Given the description of an element on the screen output the (x, y) to click on. 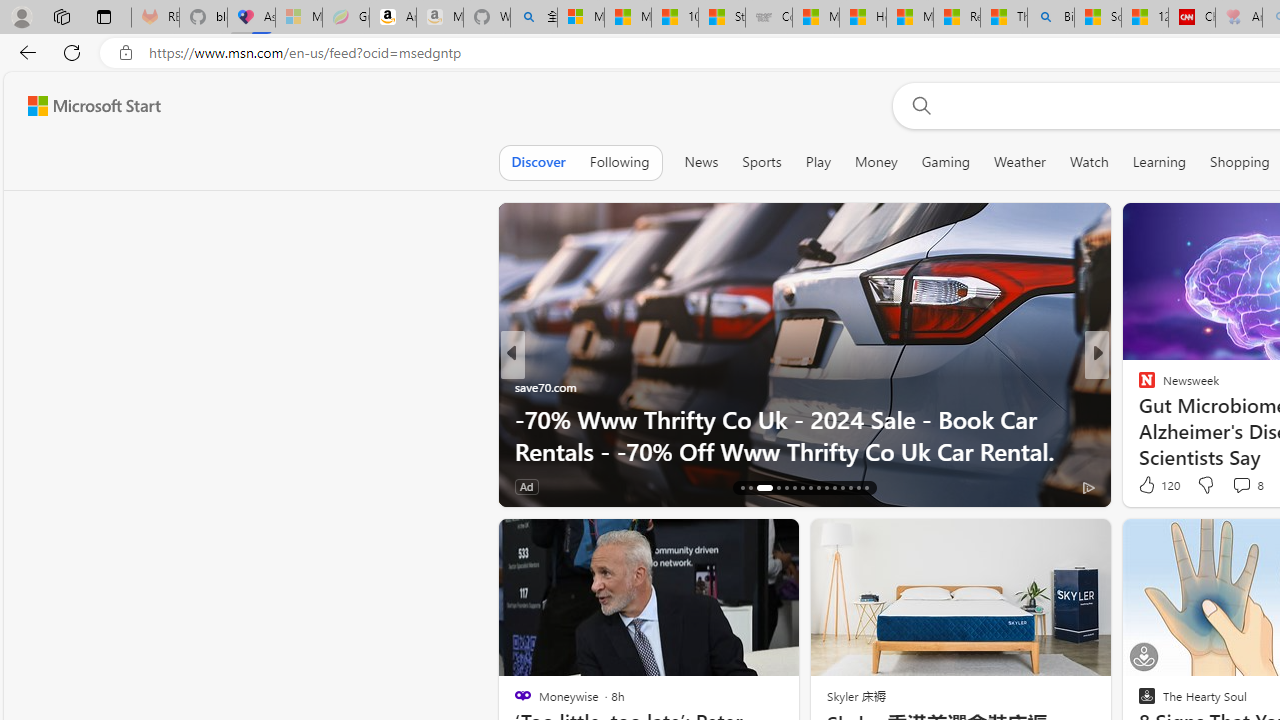
259 Like (1151, 486)
AutomationID: tab-19 (774, 487)
View comments 15 Comment (1234, 485)
Hide this story (738, 542)
AutomationID: tab-30 (865, 487)
19 Like (1149, 486)
View comments 8 Comment (1241, 485)
AutomationID: tab-29 (857, 487)
View comments 48 Comment (1244, 486)
120 Like (1157, 484)
